Given the description of an element on the screen output the (x, y) to click on. 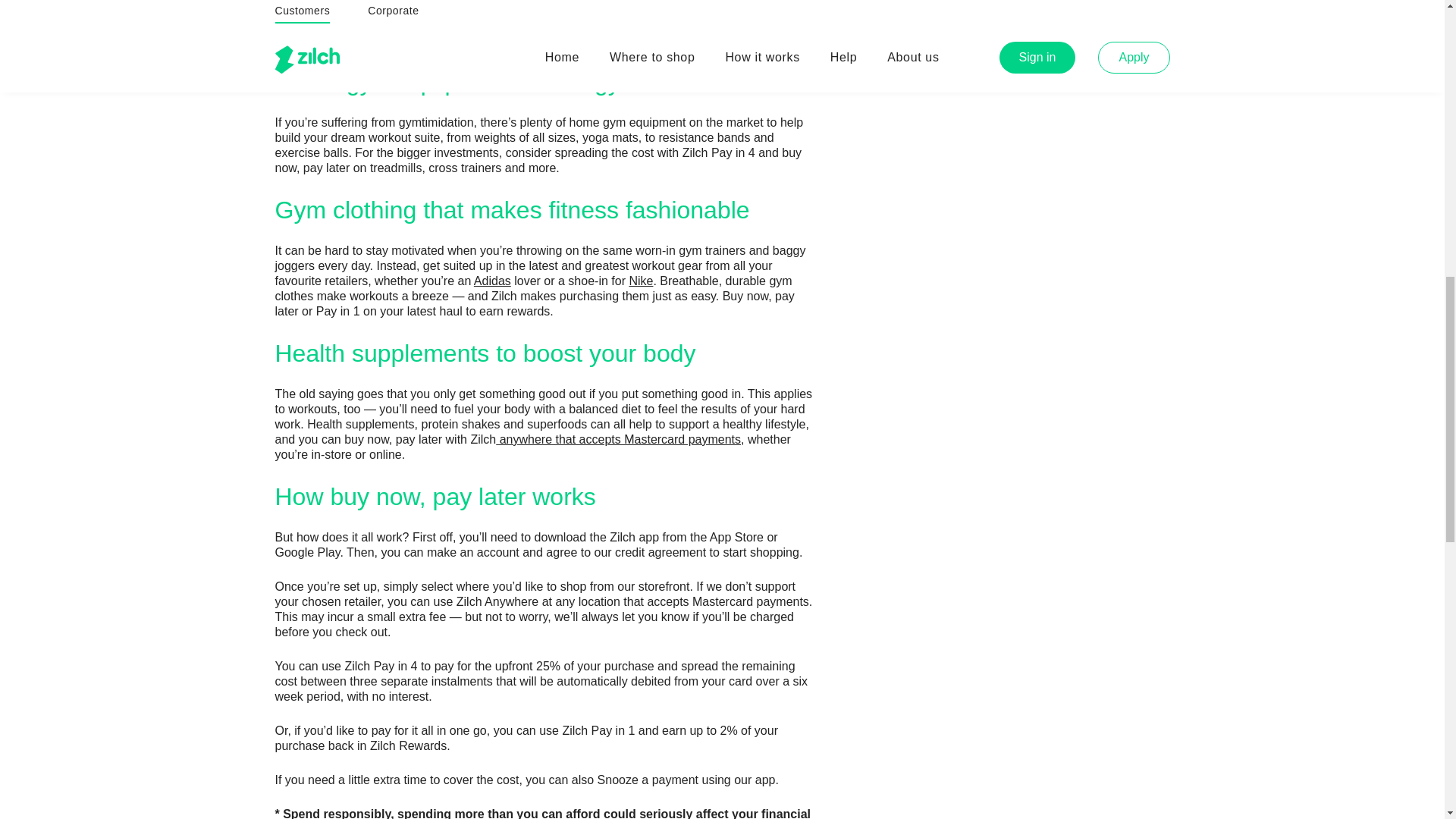
Adidas (492, 280)
anywhere that accepts Mastercard payments (618, 438)
Nike (640, 280)
